Given the description of an element on the screen output the (x, y) to click on. 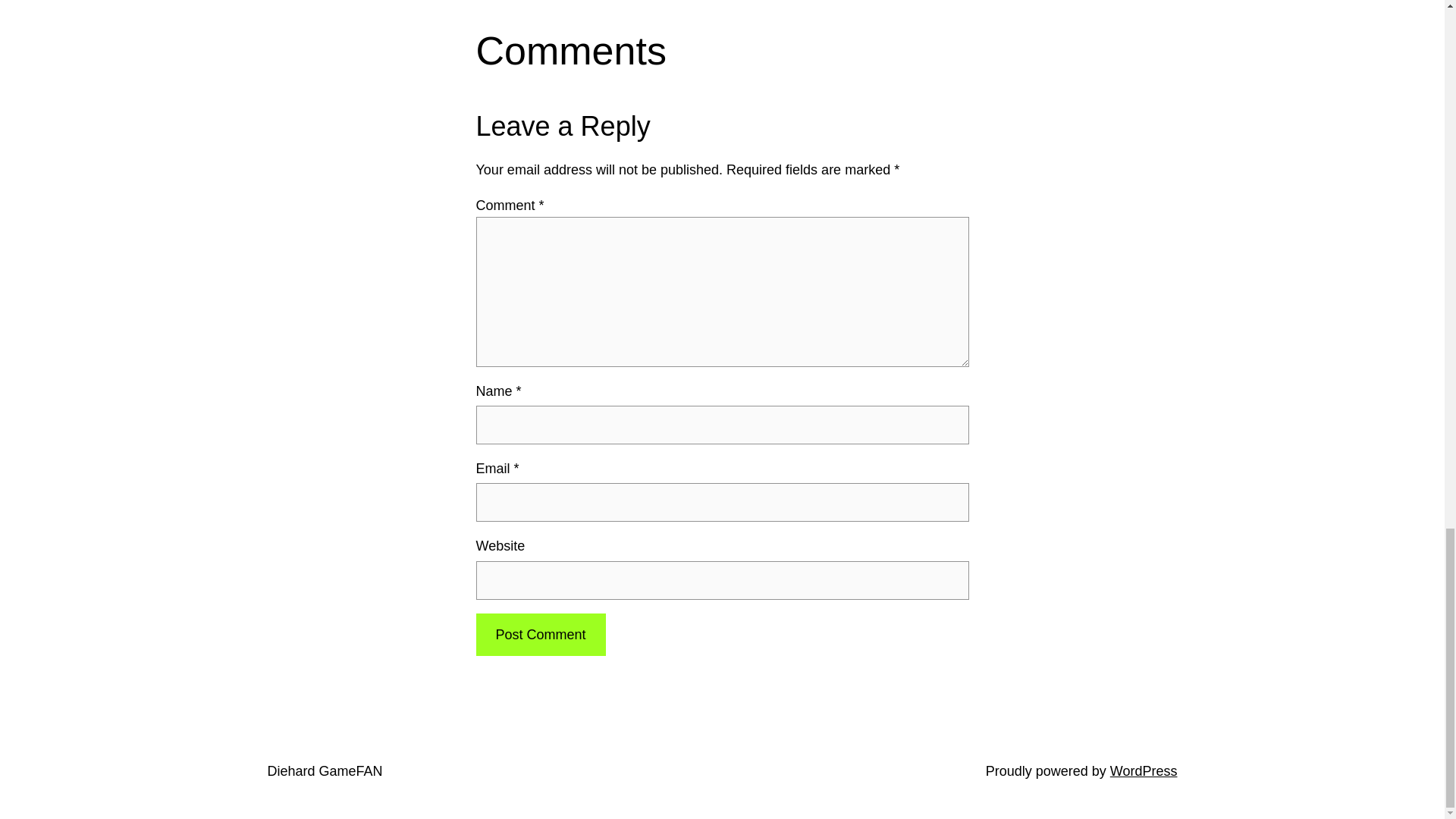
Post Comment (540, 634)
WordPress (1143, 770)
Diehard GameFAN (323, 770)
Post Comment (540, 634)
